Given the description of an element on the screen output the (x, y) to click on. 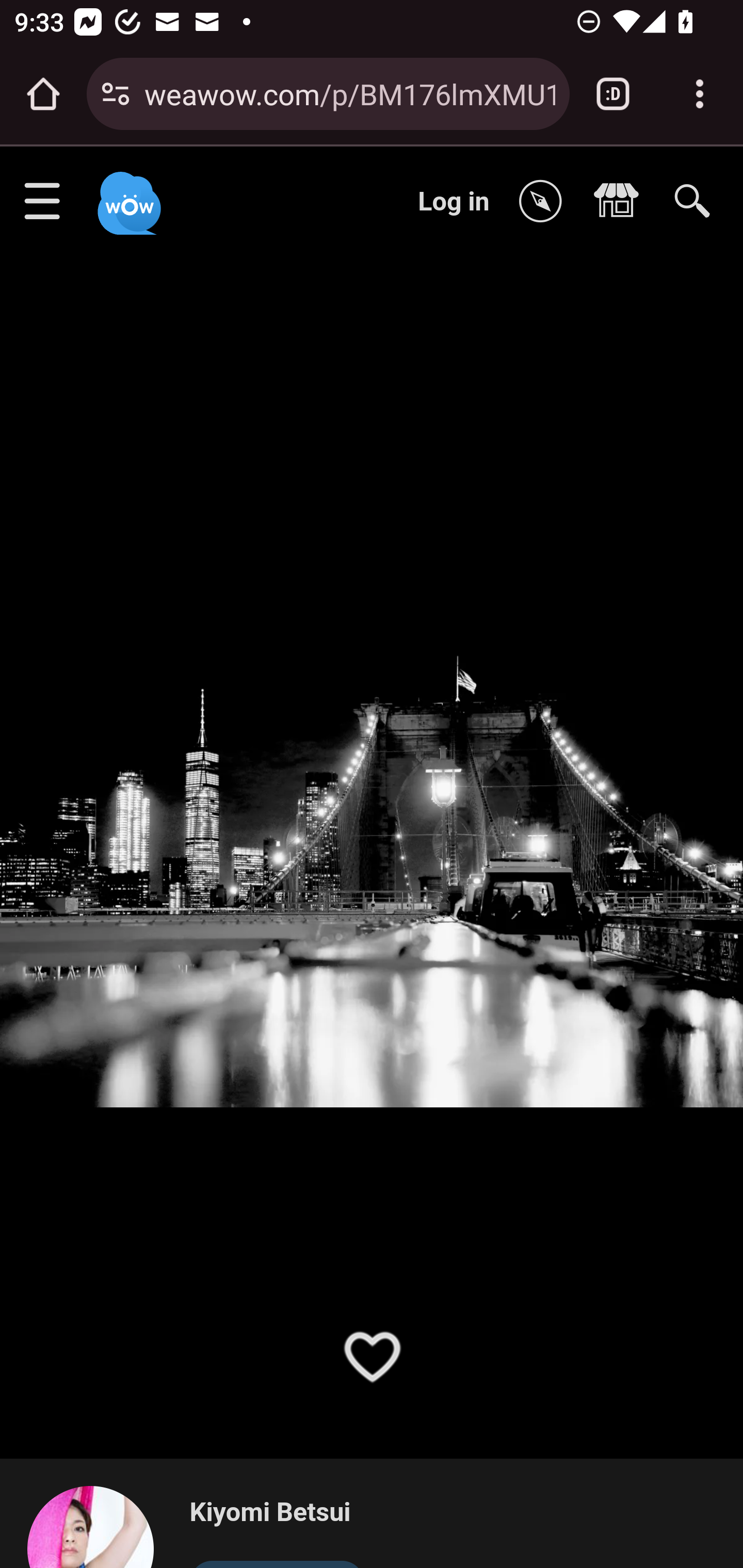
Open the home page (43, 93)
Connection is secure (115, 93)
Switch or close tabs (612, 93)
Customize and control Google Chrome (699, 93)
weawow.com/p/BM176lmXMU11488 (349, 92)
Weawow (127, 194)
 (545, 201)
 (621, 201)
Log in (453, 201)
Kiyomi%20Betsui (99, 1525)
Kiyomi Betsui (275, 1513)
